Given the description of an element on the screen output the (x, y) to click on. 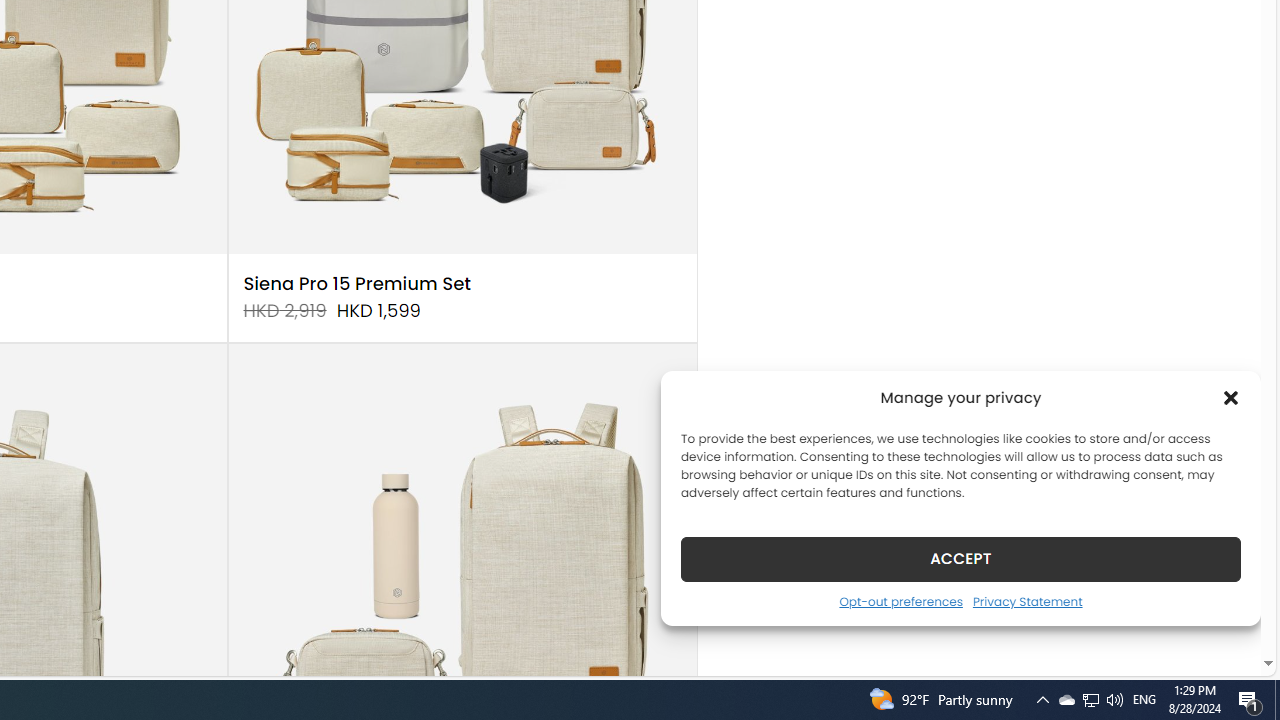
Siena Pro 15 Premium Set (357, 283)
Opt-out preferences (900, 601)
Class: cmplz-close (1231, 397)
ACCEPT (960, 558)
Privacy Statement (1026, 601)
